Given the description of an element on the screen output the (x, y) to click on. 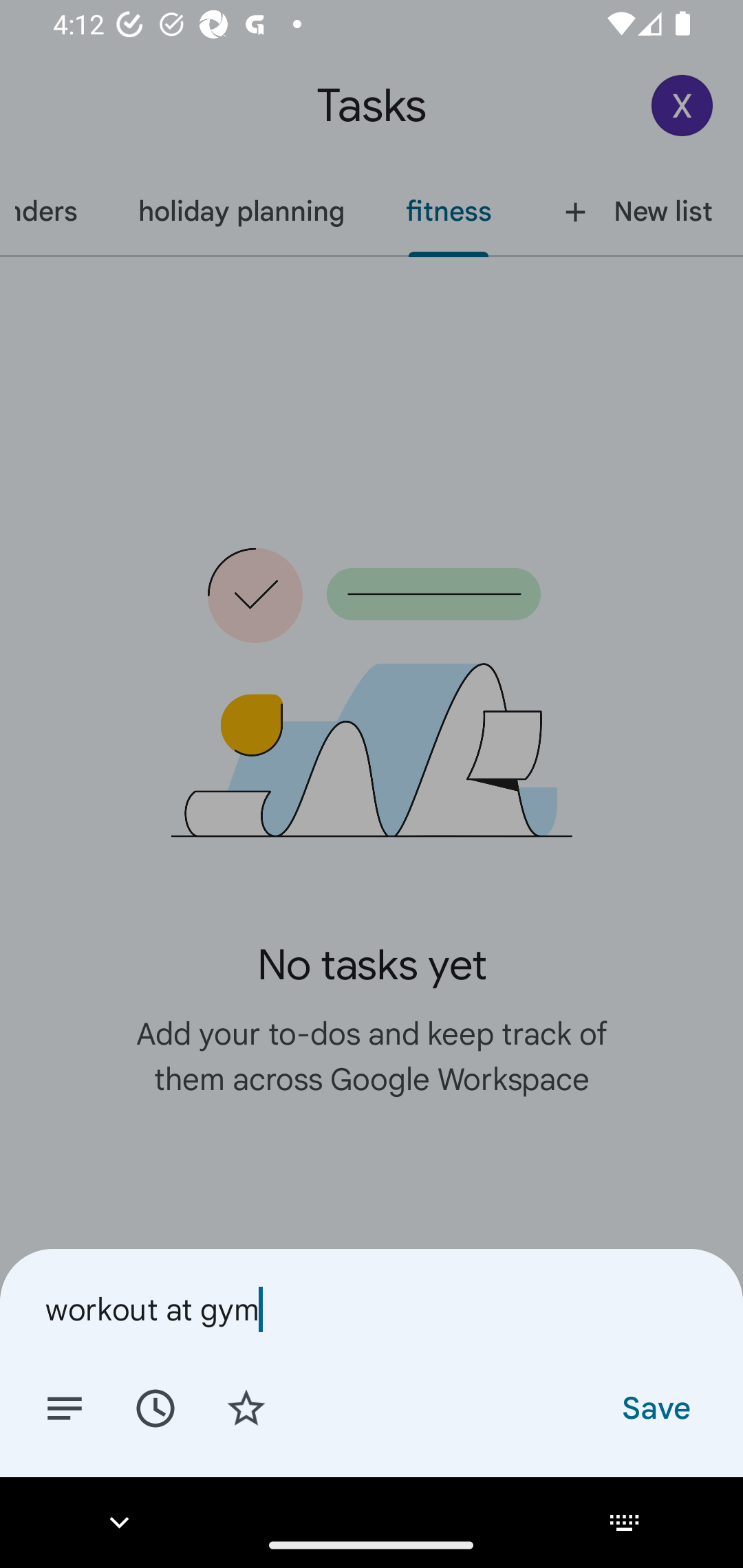
workout at gym (371, 1308)
Save (655, 1407)
Add details (64, 1407)
Set date/time (154, 1407)
Add star (245, 1407)
